Given the description of an element on the screen output the (x, y) to click on. 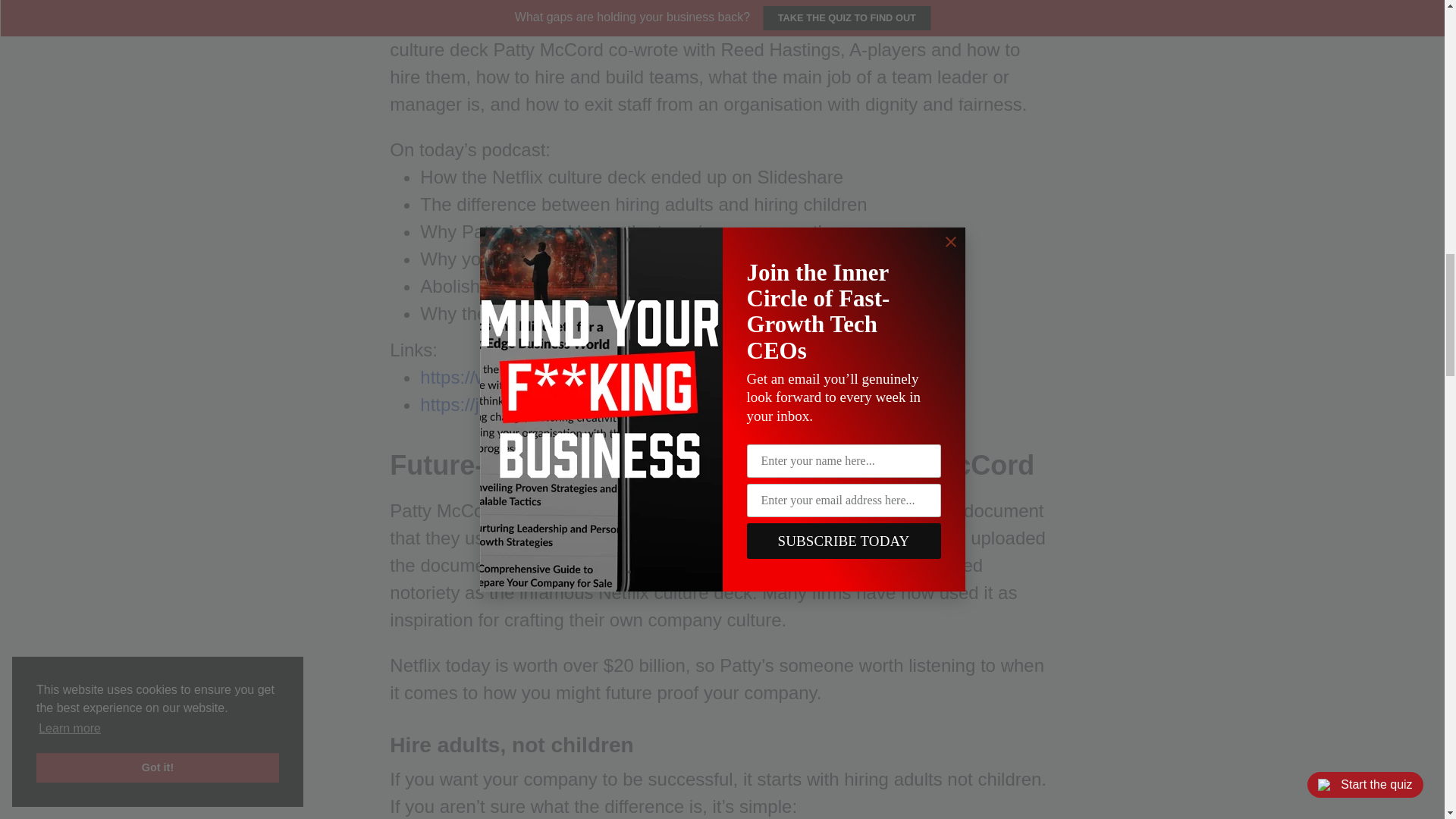
Dominic Monkhouse (600, 22)
Dominic Monkhouse (600, 22)
